Given the description of an element on the screen output the (x, y) to click on. 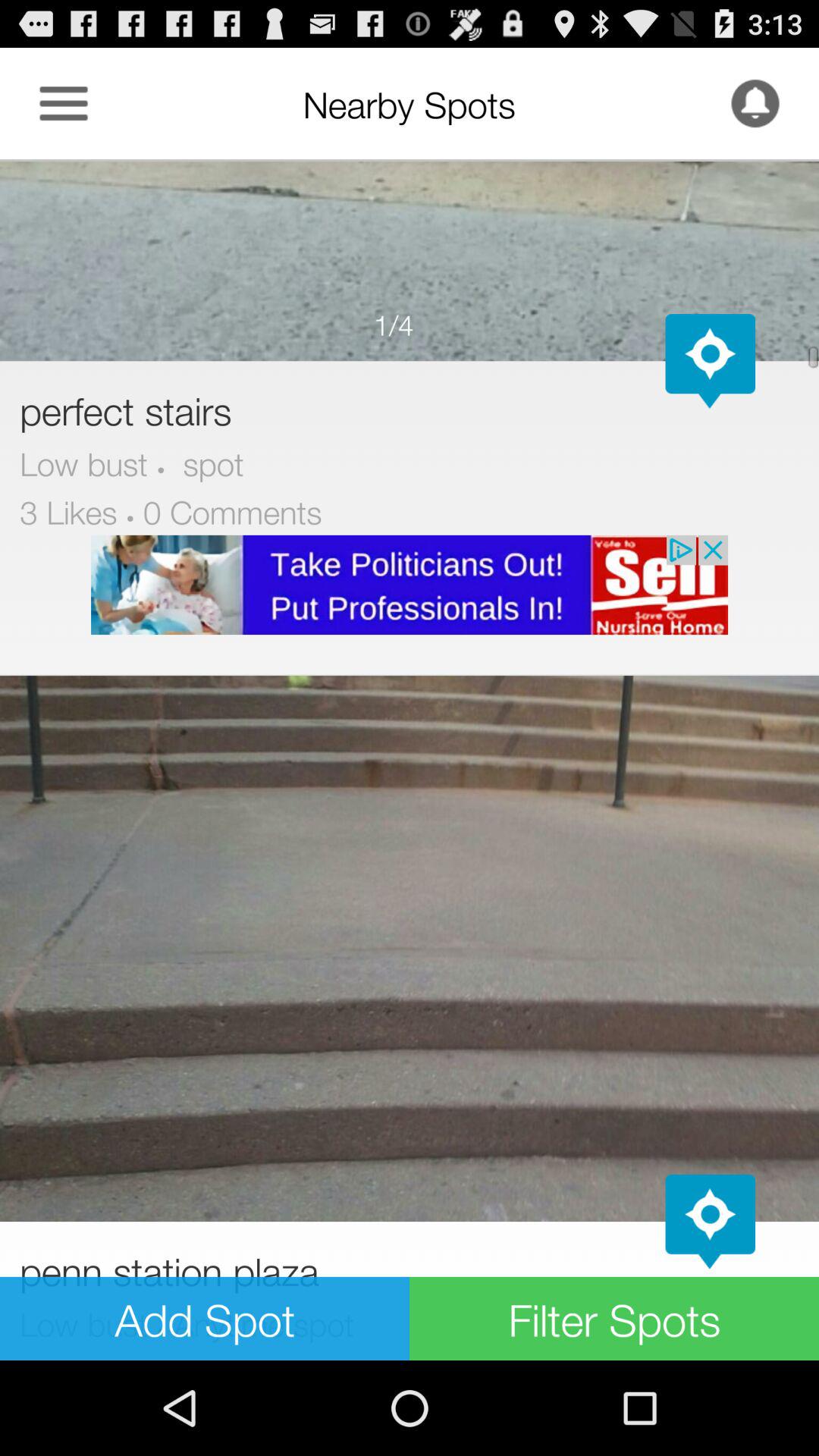
position (710, 360)
